Given the description of an element on the screen output the (x, y) to click on. 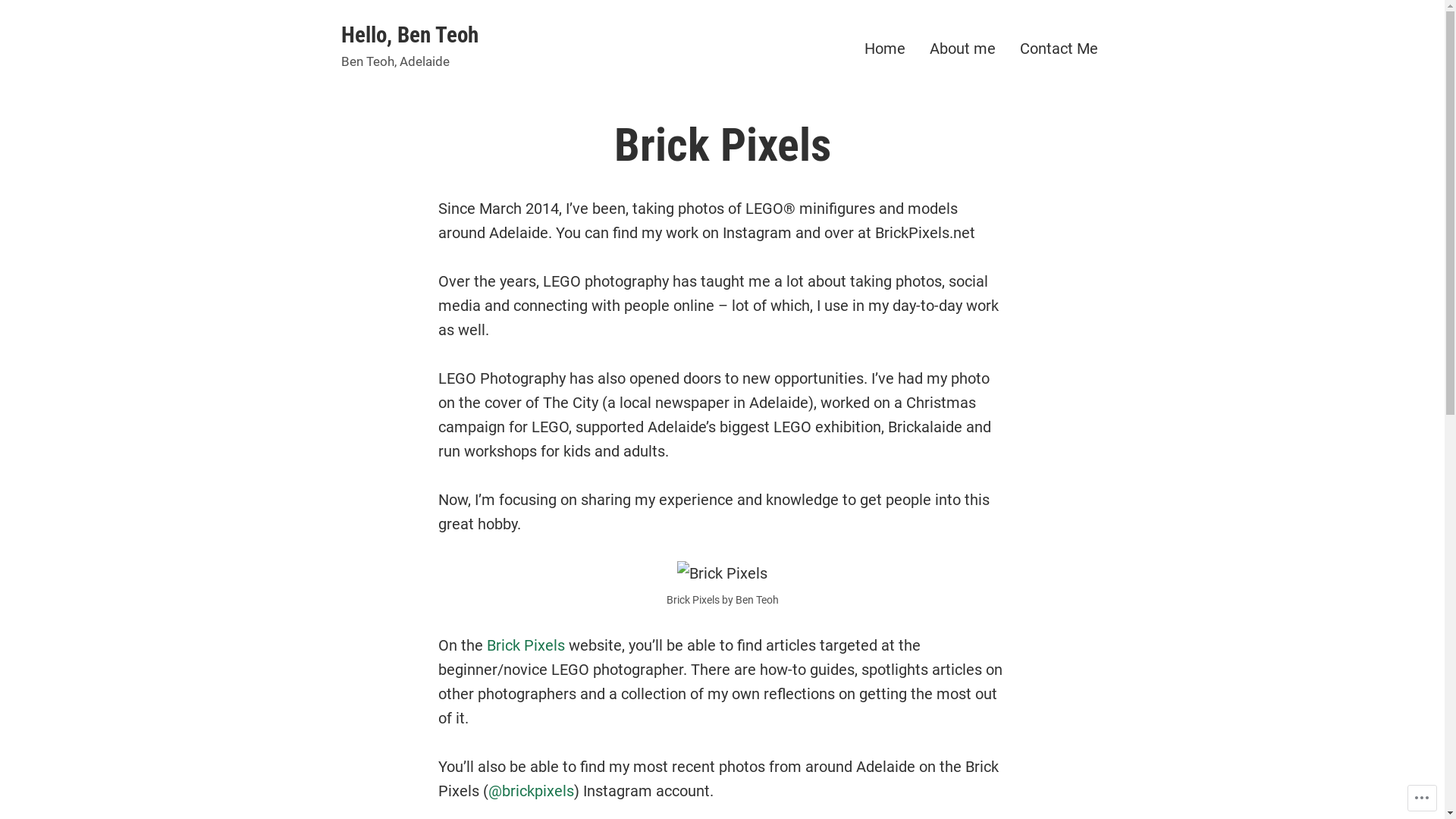
Contact Me Element type: text (1058, 47)
Hello, Ben Teoh Element type: text (409, 34)
About me Element type: text (962, 47)
@brickpixels Element type: text (531, 790)
Home Element type: text (884, 47)
Brick Pixels Element type: text (525, 645)
